Given the description of an element on the screen output the (x, y) to click on. 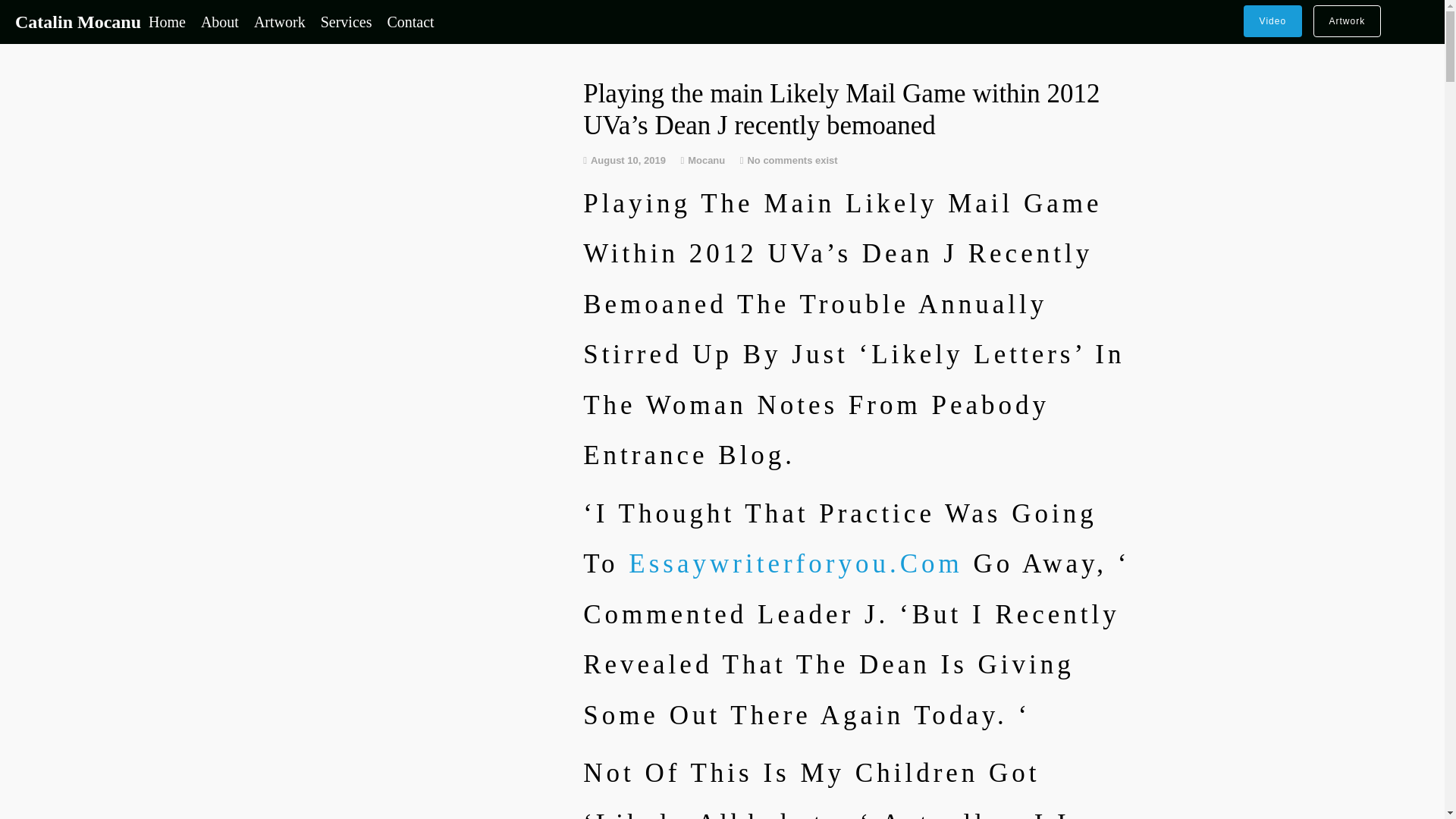
Catalin Mocanu (77, 21)
Contact (409, 22)
Services (346, 22)
No comments exist (791, 160)
Video (1272, 20)
Artwork (279, 22)
Home (167, 22)
Essaywriterforyou.Com (795, 563)
Artwork (1347, 20)
About (219, 22)
